Given the description of an element on the screen output the (x, y) to click on. 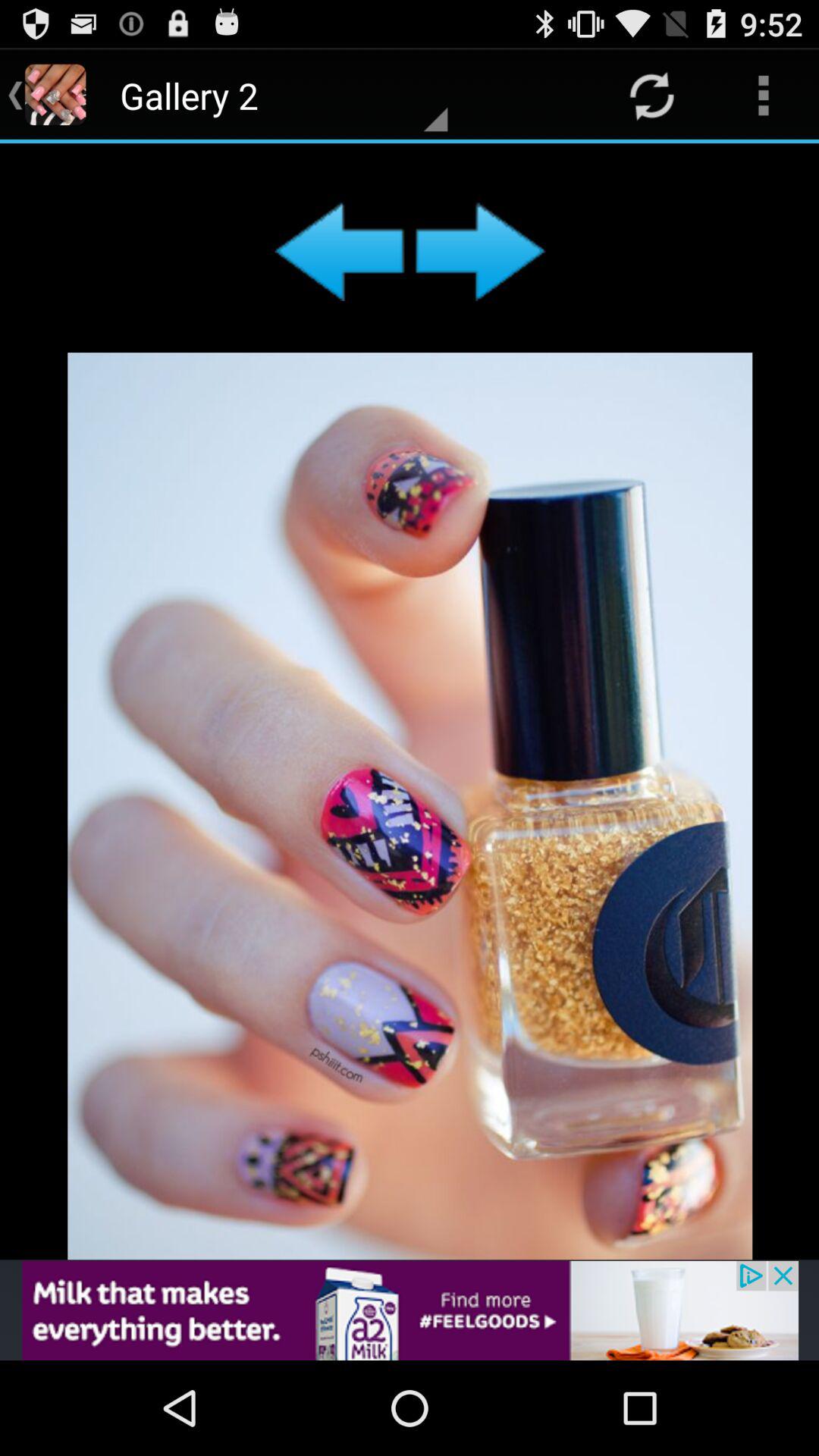
image only i believe (409, 701)
